Given the description of an element on the screen output the (x, y) to click on. 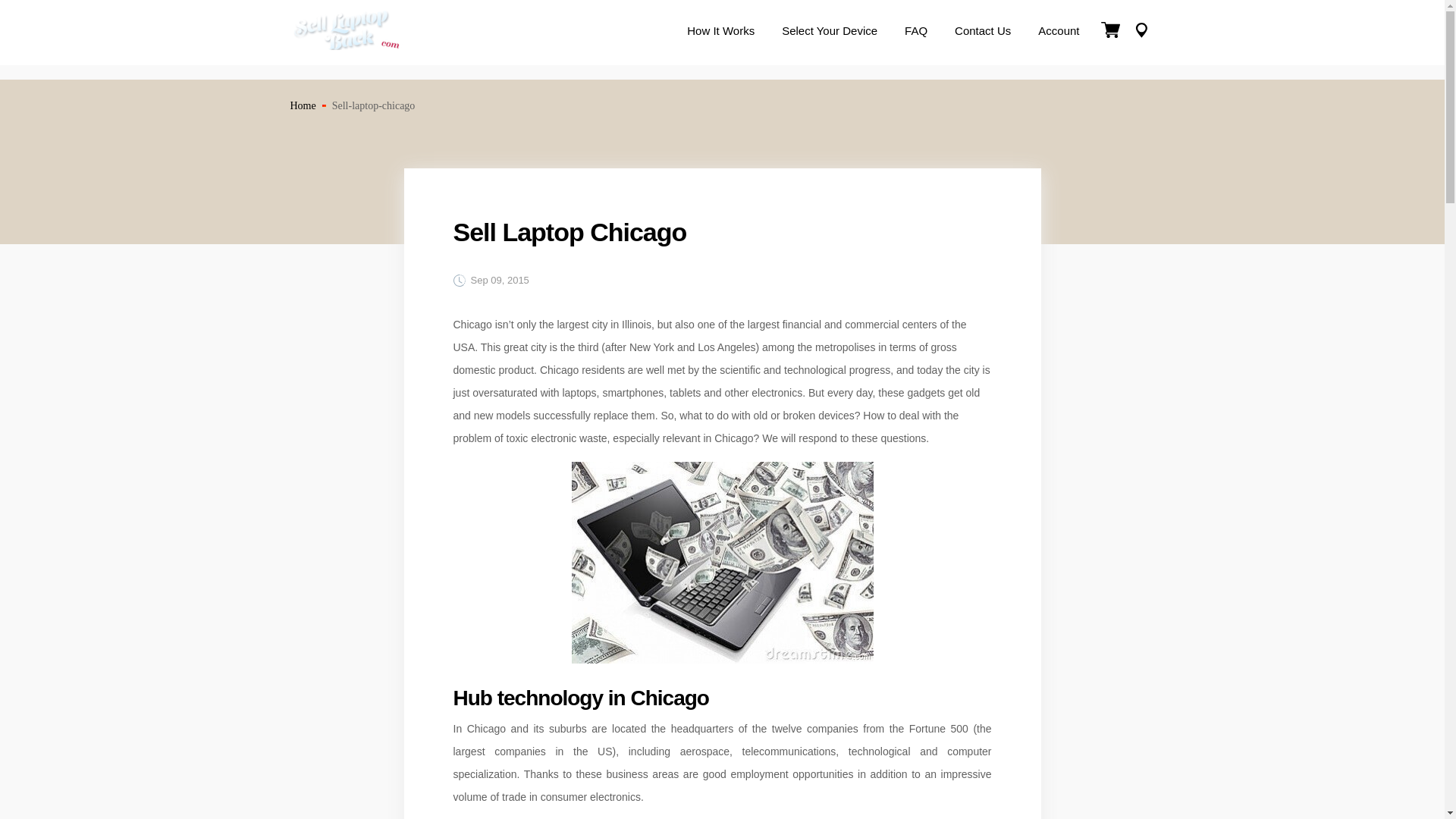
Contact Us (982, 31)
SellLaptopBack.com (346, 46)
Select Your Device (829, 31)
Contact Us (982, 31)
Get My Order (1140, 33)
How It Works (720, 31)
Select Your Device (829, 31)
Home (302, 105)
FAQ (915, 31)
Account (1059, 31)
Seller Account (1059, 31)
How it Works (720, 31)
FAQ (915, 31)
